Given the description of an element on the screen output the (x, y) to click on. 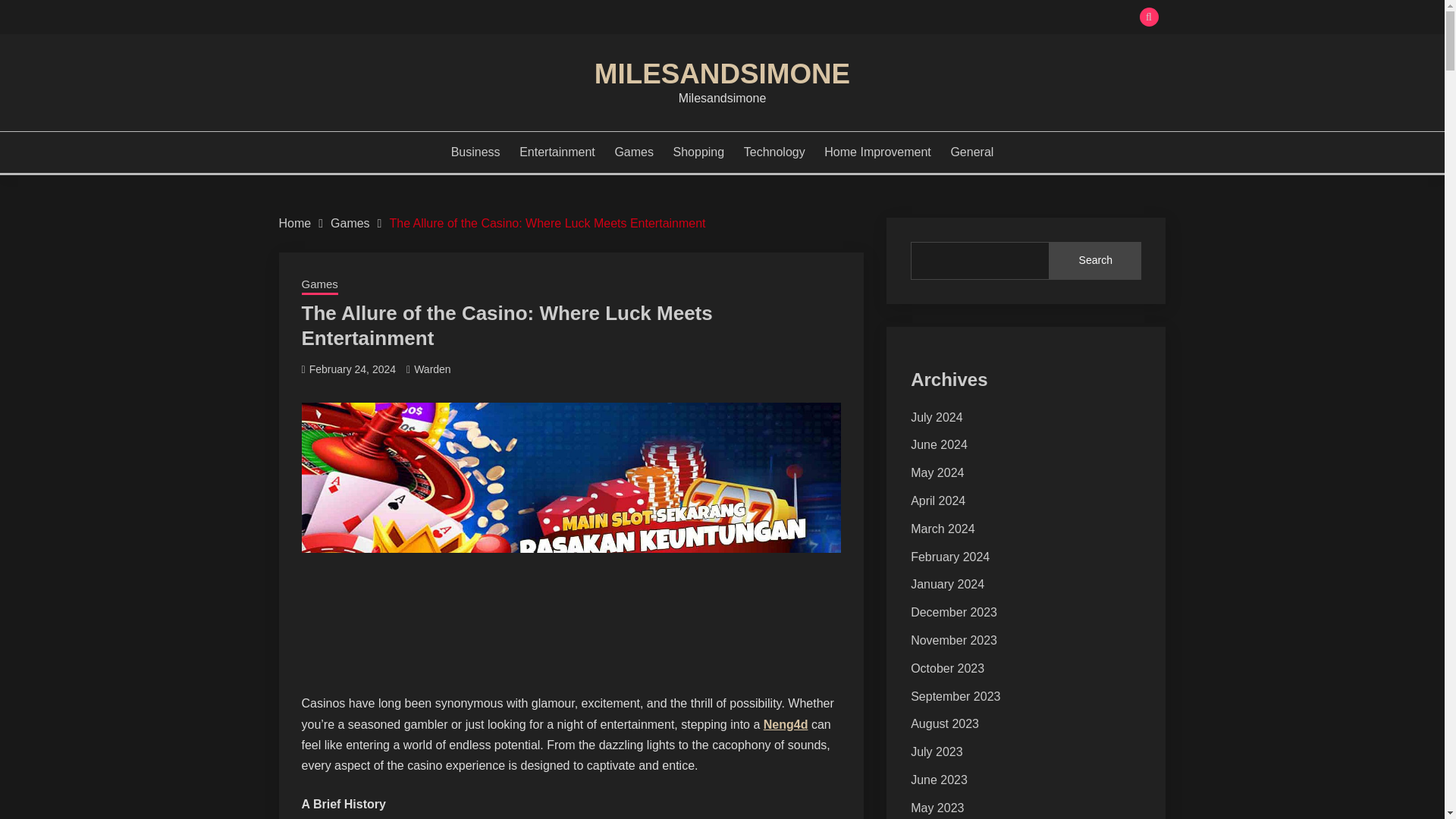
May 2024 (937, 472)
Games (319, 285)
Shopping (698, 152)
The Allure of the Casino: Where Luck Meets Entertainment (546, 223)
Business (475, 152)
General (971, 152)
Home (295, 223)
February 24, 2024 (352, 369)
Technology (774, 152)
July 2024 (936, 417)
Games (349, 223)
March 2024 (943, 528)
June 2024 (939, 444)
Entertainment (557, 152)
Search (832, 18)
